Given the description of an element on the screen output the (x, y) to click on. 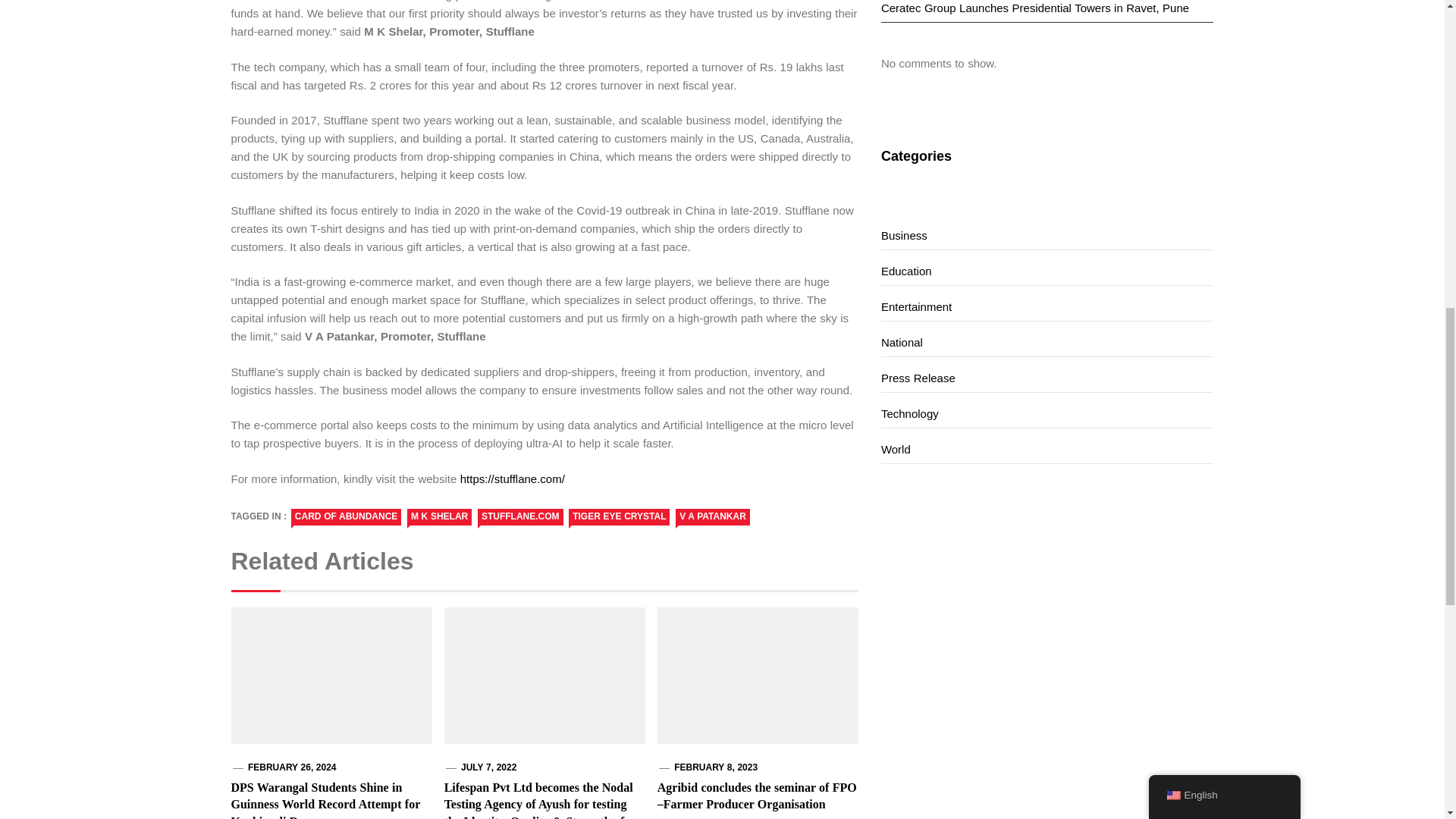
V A PATANKAR (712, 516)
TIGER EYE CRYSTAL (619, 516)
FEBRUARY 26, 2024 (291, 767)
STUFFLANE.COM (520, 516)
M K SHELAR (439, 516)
JULY 7, 2022 (488, 767)
CARD OF ABUNDANCE (346, 516)
